Given the description of an element on the screen output the (x, y) to click on. 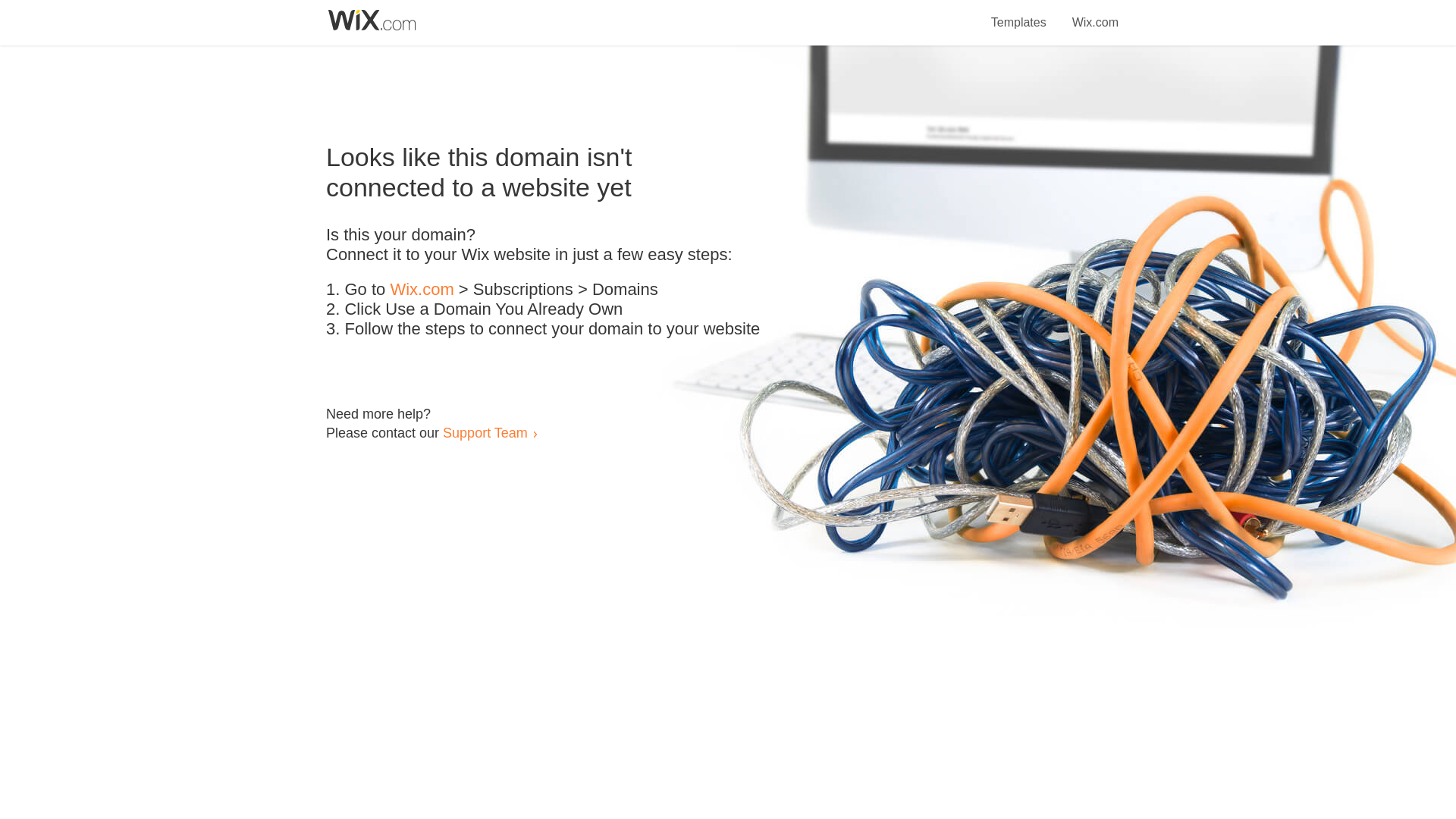
Templates (1018, 14)
Support Team (484, 432)
Wix.com (1095, 14)
Wix.com (421, 289)
